Given the description of an element on the screen output the (x, y) to click on. 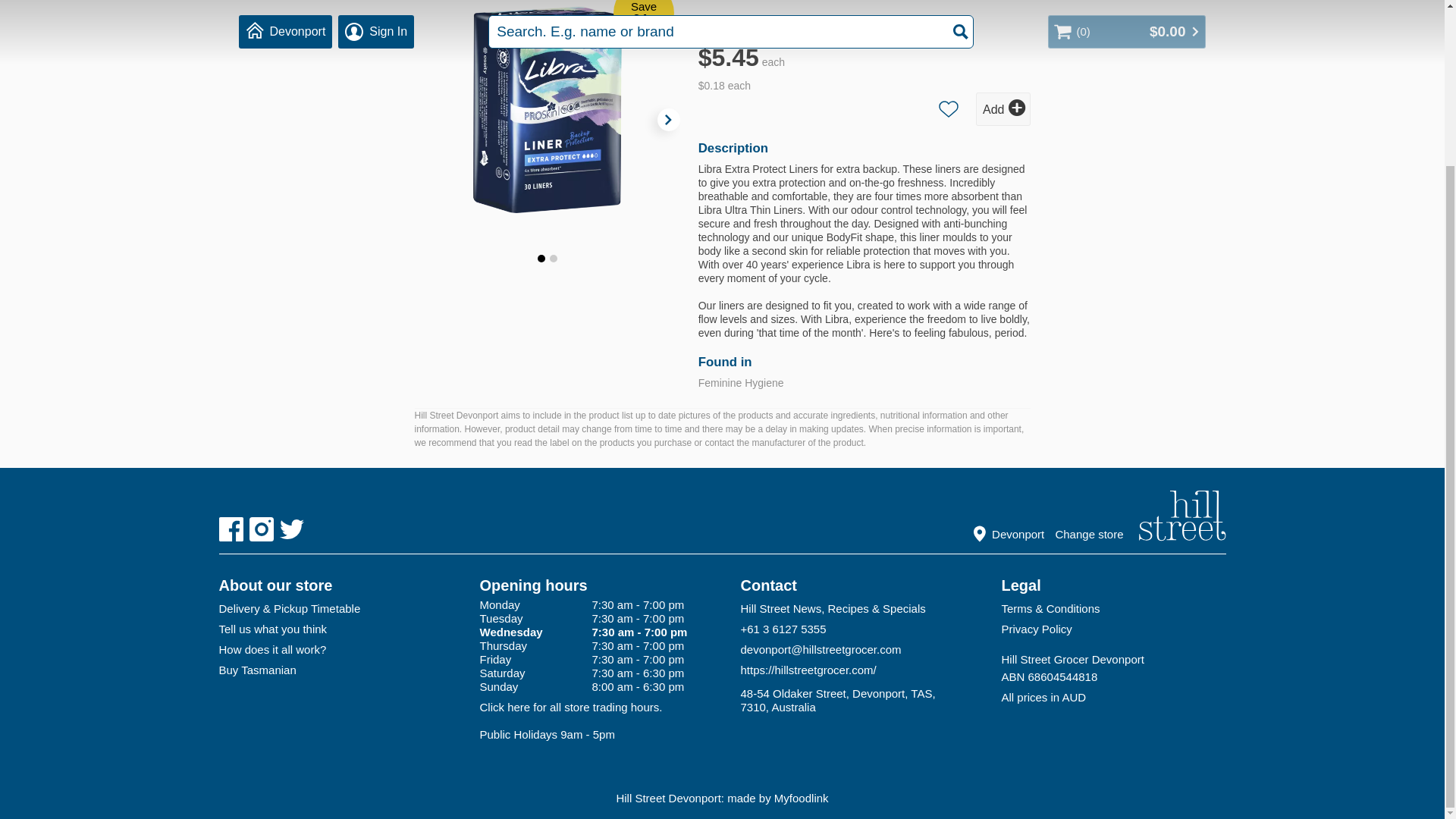
48-54 Oldaker Street, Devonport, TAS, 7310, Australia (851, 700)
Myfoodlink (801, 797)
Privacy Policy (1113, 629)
Tell us what you think (330, 629)
Devonport Change store (1054, 531)
Buy Tasmanian (330, 670)
How does it all work? (330, 649)
Click here for all store trading hours. (570, 707)
Instagram hillstreetgrocer (260, 528)
Facebook (230, 528)
Feminine Hygiene (741, 382)
